Given the description of an element on the screen output the (x, y) to click on. 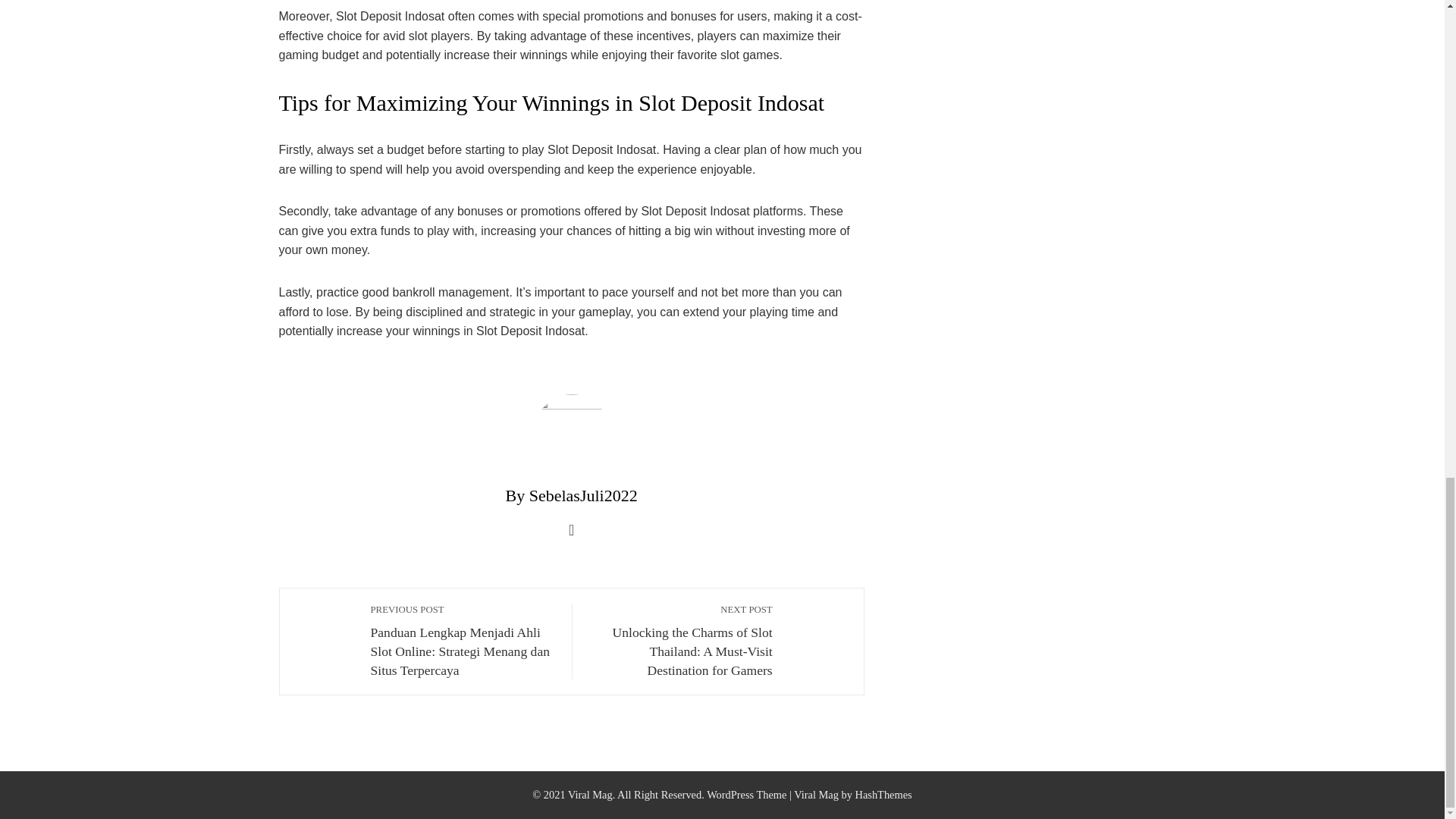
Viral Mag (815, 794)
Download Viral News (815, 794)
